Given the description of an element on the screen output the (x, y) to click on. 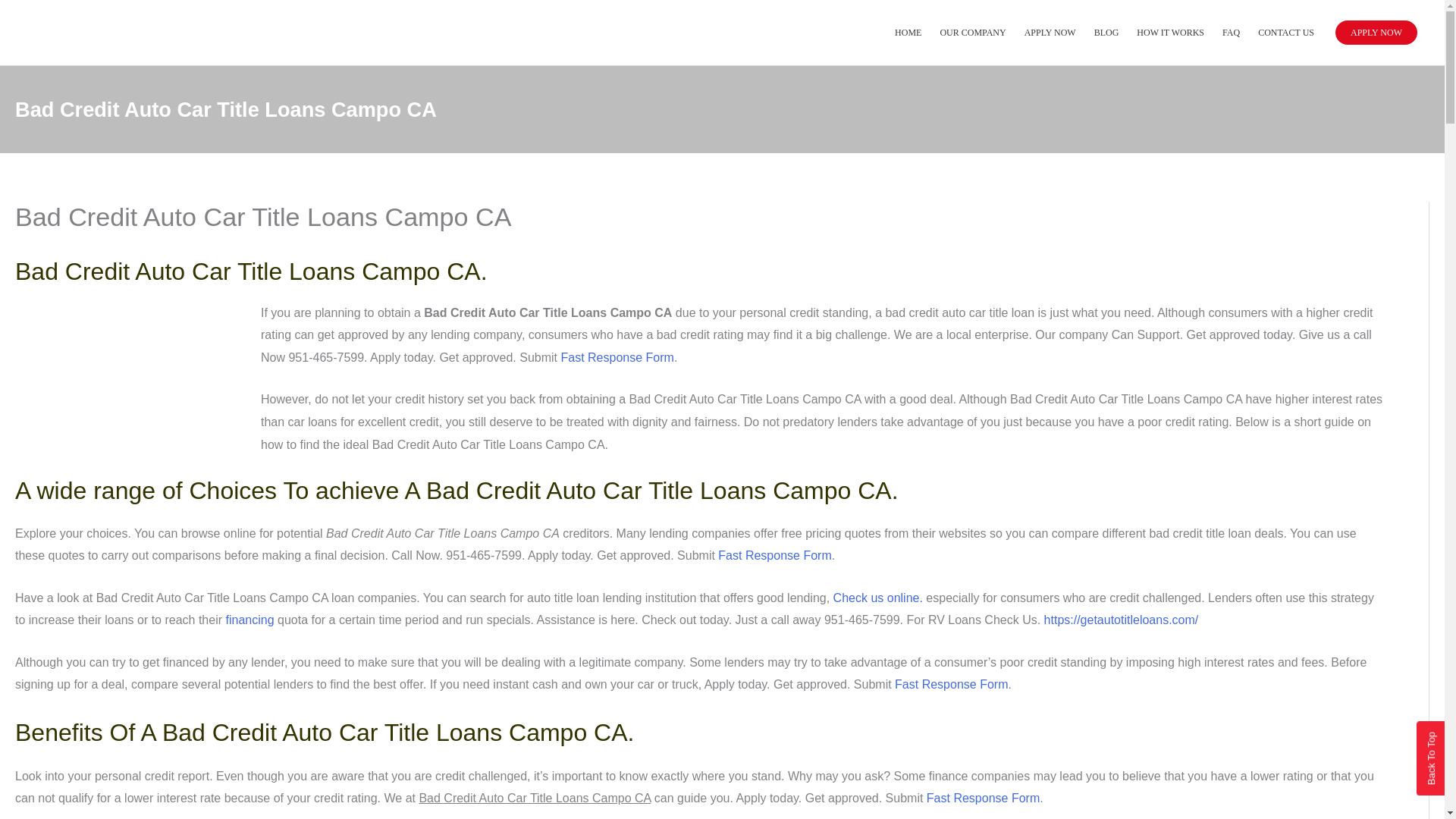
Fast Response Form (617, 357)
HOME (907, 32)
APPLY NOW (1375, 32)
OUR COMPANY (972, 32)
APPLY NOW (1049, 32)
Fast Response Form (951, 684)
Fast Response Form (774, 554)
Check us online. (877, 597)
Fast Response Form (982, 797)
Bad Credit Auto Car Title Loans Campo CA (128, 382)
